Given the description of an element on the screen output the (x, y) to click on. 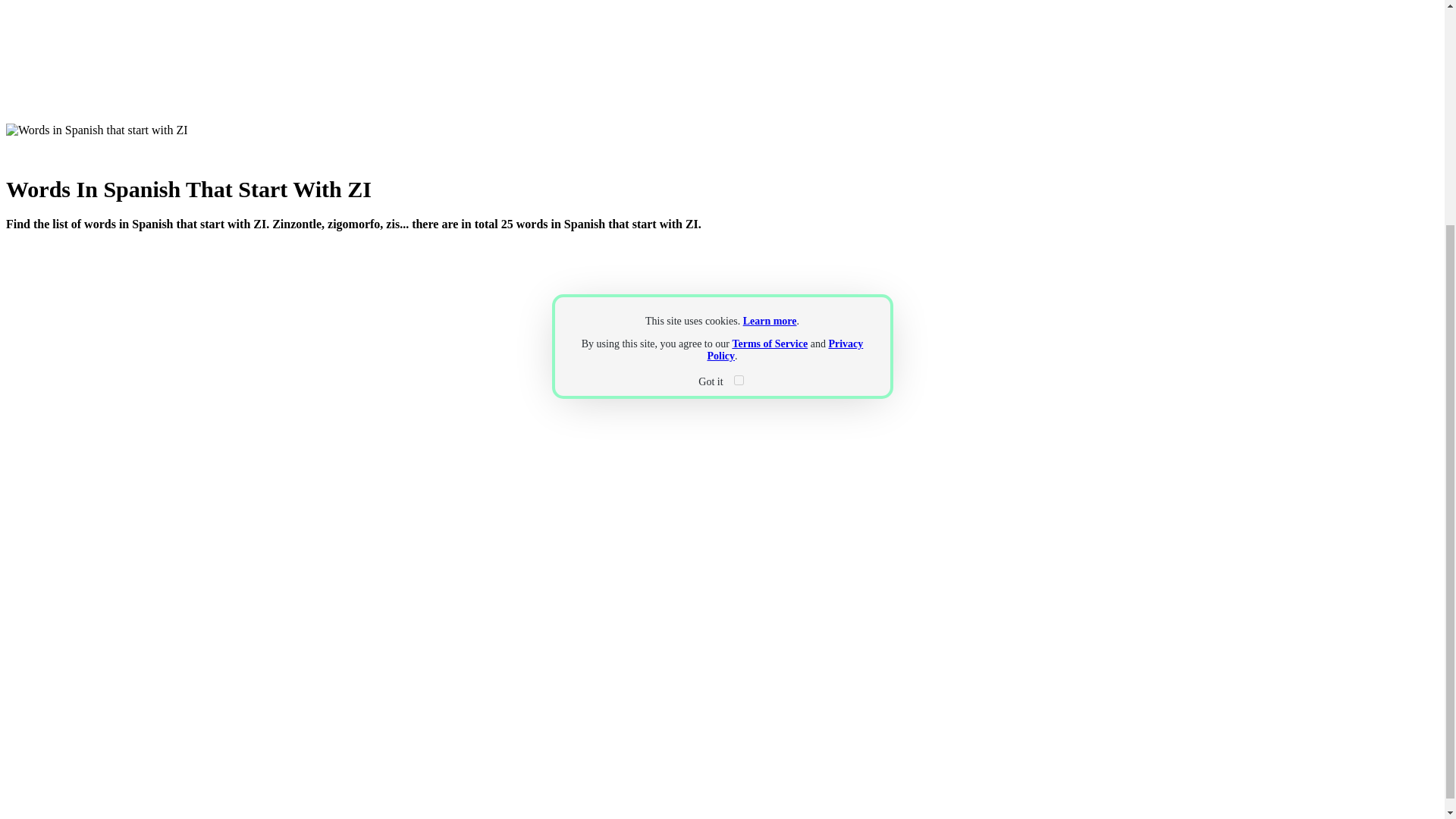
Terms of Service (770, 343)
Learn more (769, 320)
Learn more (769, 320)
Privacy Policy (784, 349)
Terms of Service (770, 343)
Privacy Policy (784, 349)
on (738, 379)
